Given the description of an element on the screen output the (x, y) to click on. 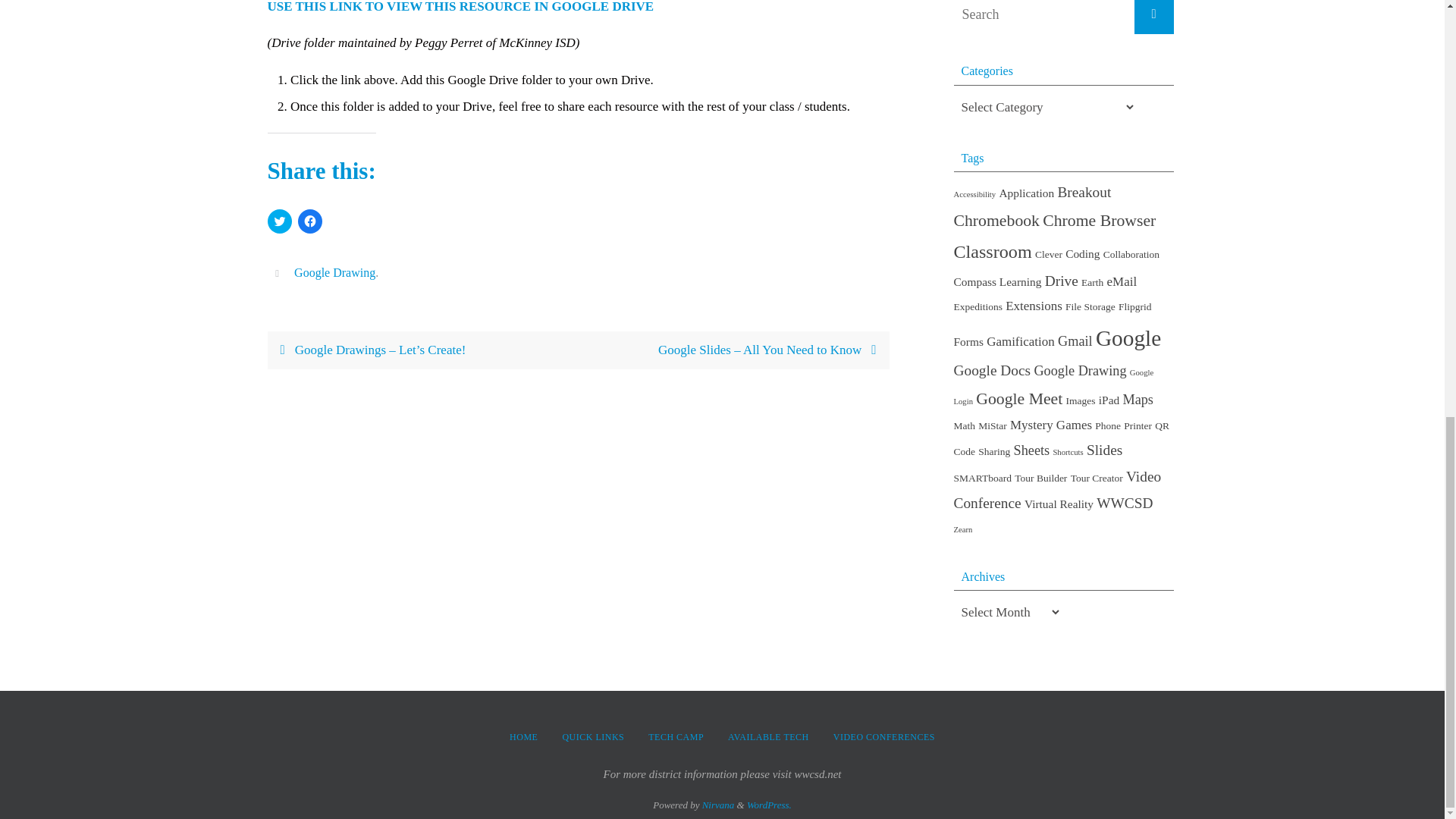
Google Drawing (334, 273)
Tagged (278, 272)
Semantic Personal Publishing Platform (769, 804)
Click to share on Facebook (309, 221)
Click to share on Twitter (278, 221)
USE THIS LINK TO VIEW THIS RESOURCE IN GOOGLE DRIVE (465, 6)
Nirvana Theme by Cryout Creations (718, 804)
